Given the description of an element on the screen output the (x, y) to click on. 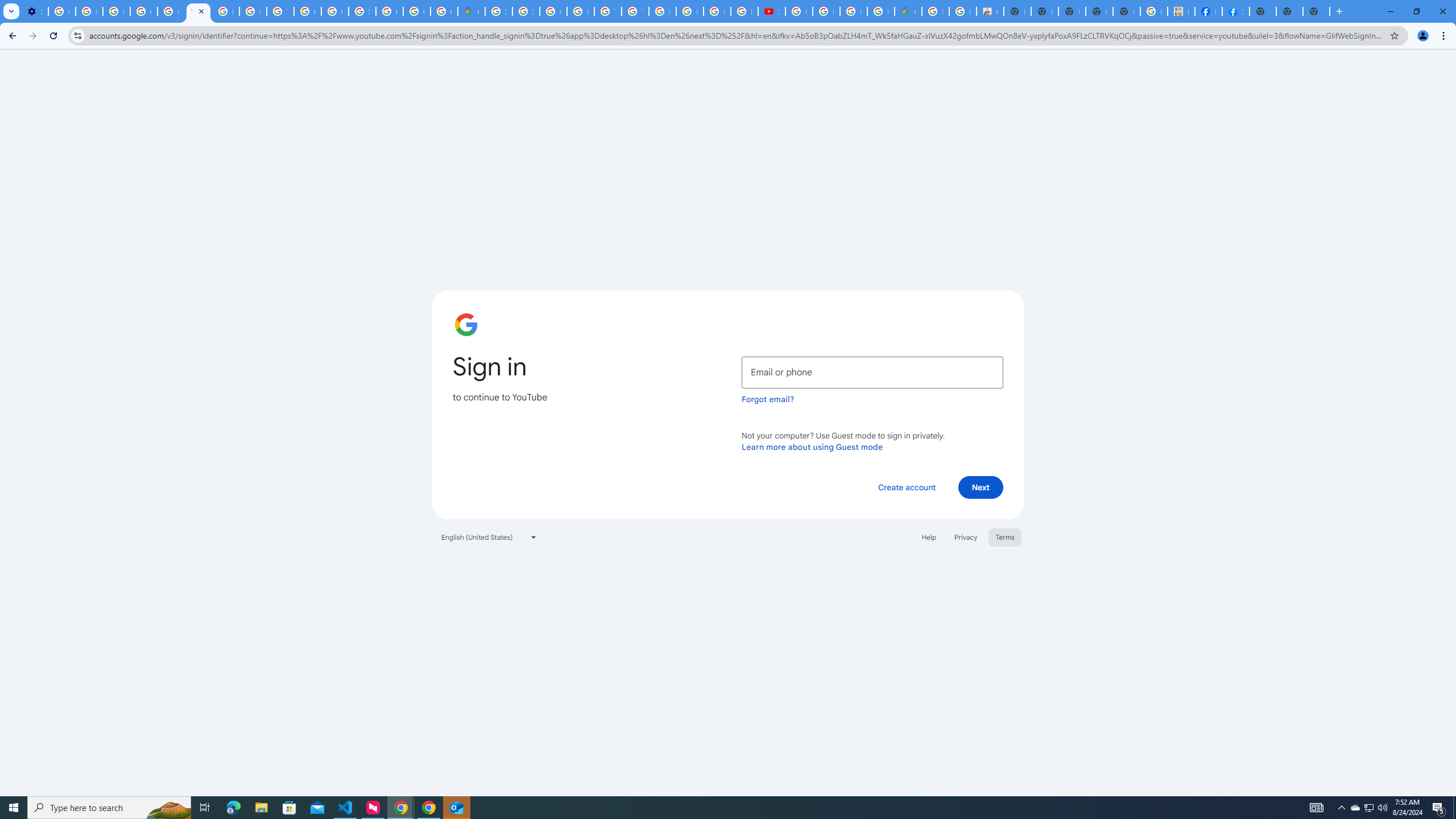
New Tab (1262, 11)
YouTube (197, 11)
Sign in - Google Accounts (498, 11)
Learn more about using Guest mode (812, 446)
Settings - Customize profile (34, 11)
Subscriptions - YouTube (771, 11)
